Given the description of an element on the screen output the (x, y) to click on. 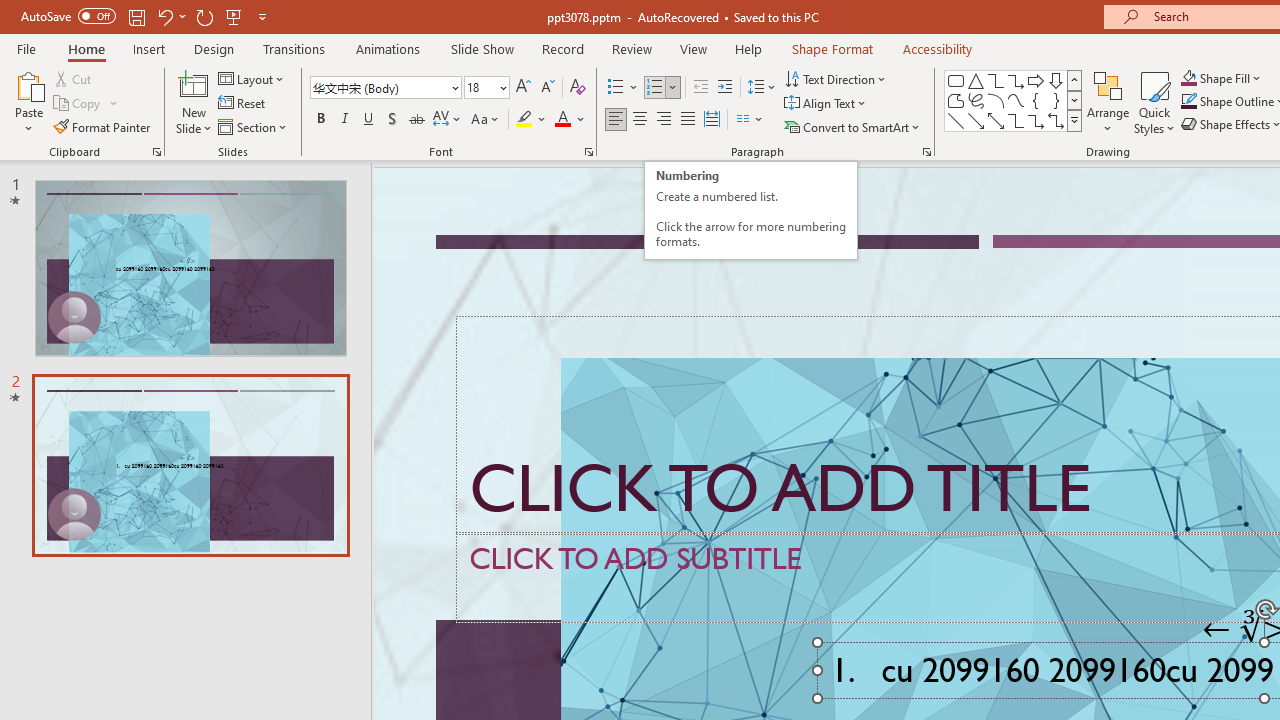
Row Down (1074, 100)
Cut (73, 78)
Convert to SmartArt (853, 126)
Line Arrow (975, 120)
Connector: Elbow Arrow (1035, 120)
Line (955, 120)
Quick Styles (1154, 102)
